Given the description of an element on the screen output the (x, y) to click on. 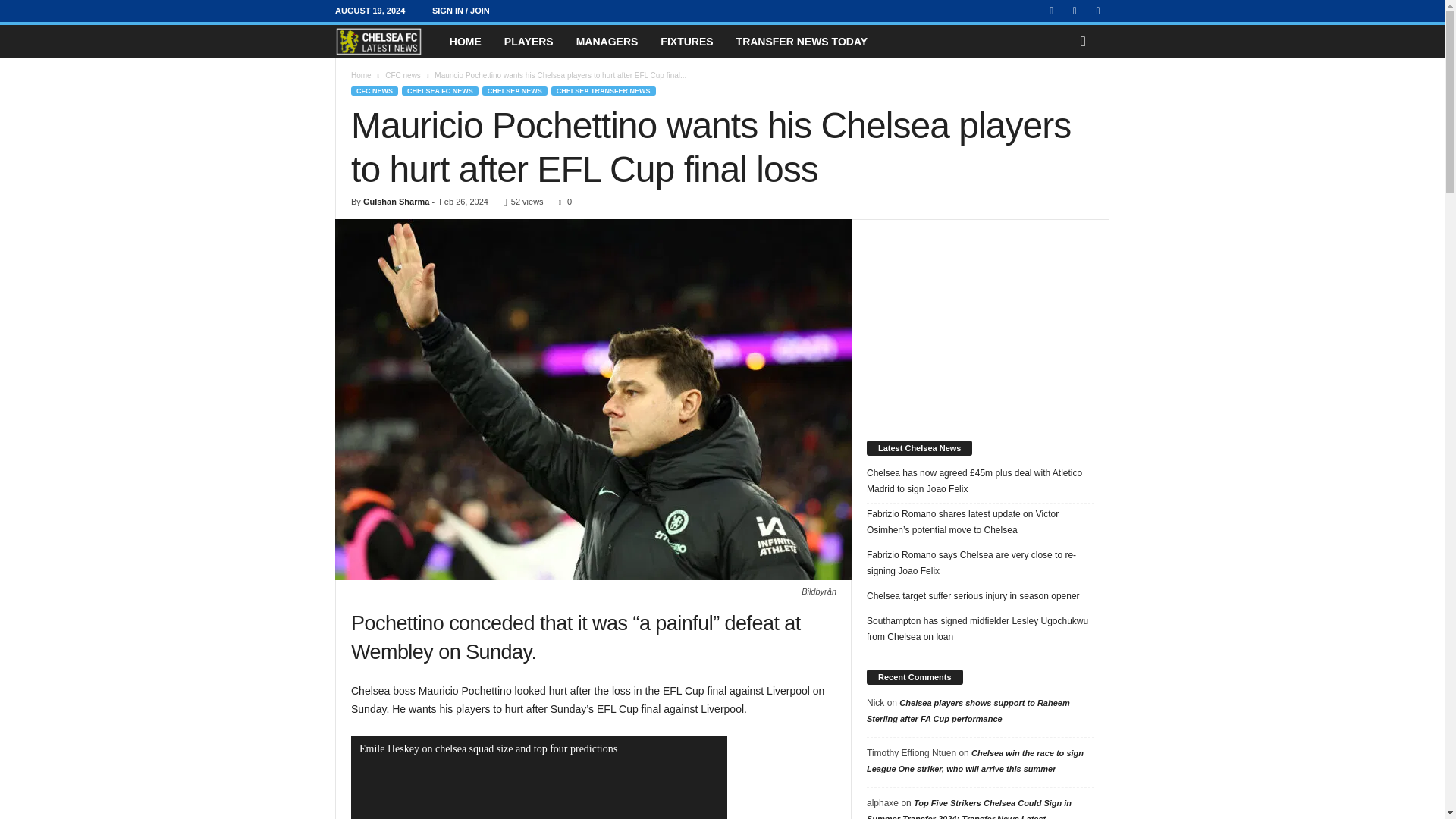
HOME (465, 41)
PLAYERS (528, 41)
Chelsea FC Latest News .com (386, 41)
